Given the description of an element on the screen output the (x, y) to click on. 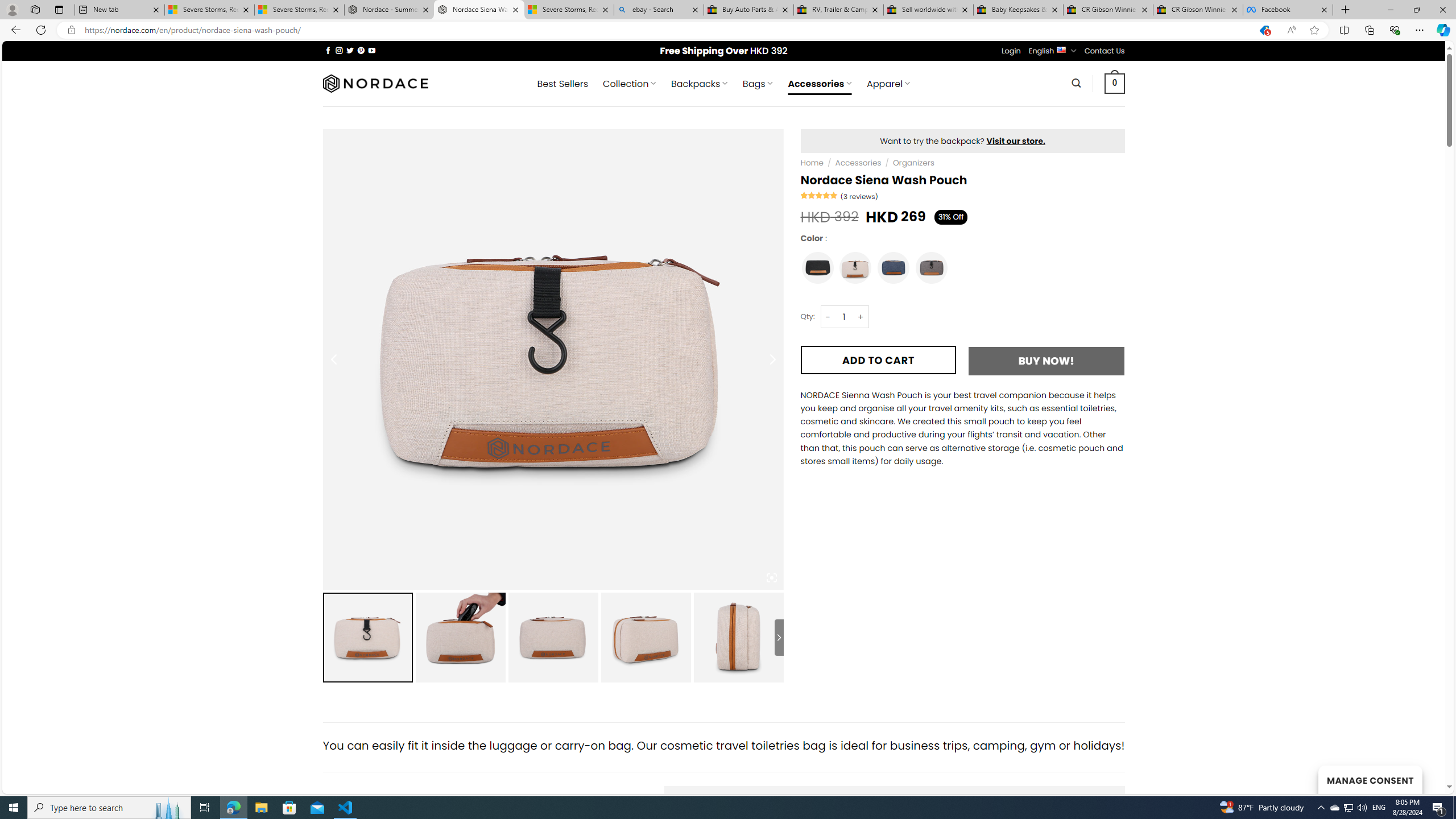
Accessories (857, 162)
Rated 5.00 out of 5 (819, 194)
